Given the description of an element on the screen output the (x, y) to click on. 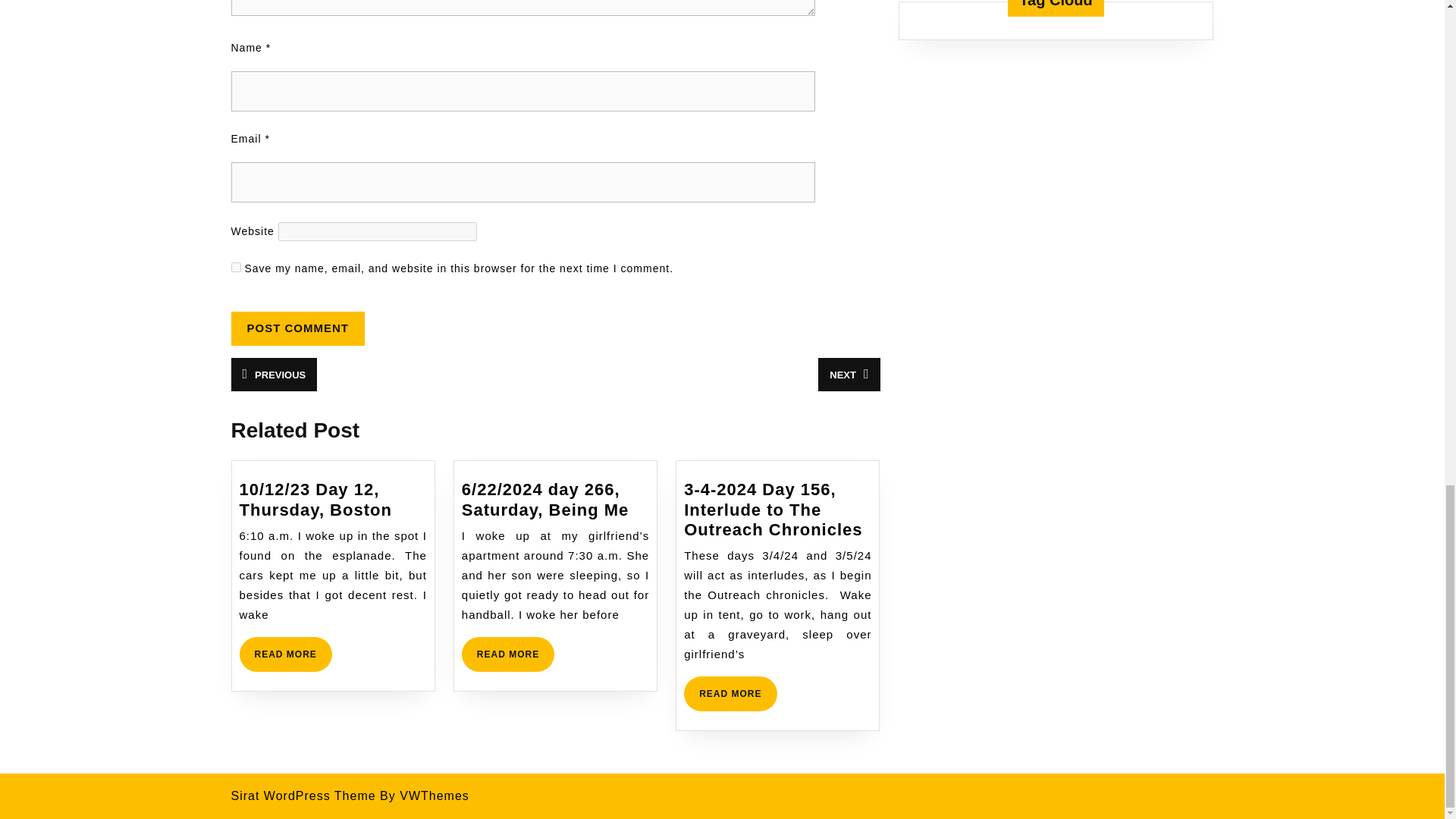
Sirat WordPress Theme (302, 795)
Post Comment (273, 374)
Post Comment (285, 654)
yes (848, 374)
